Given the description of an element on the screen output the (x, y) to click on. 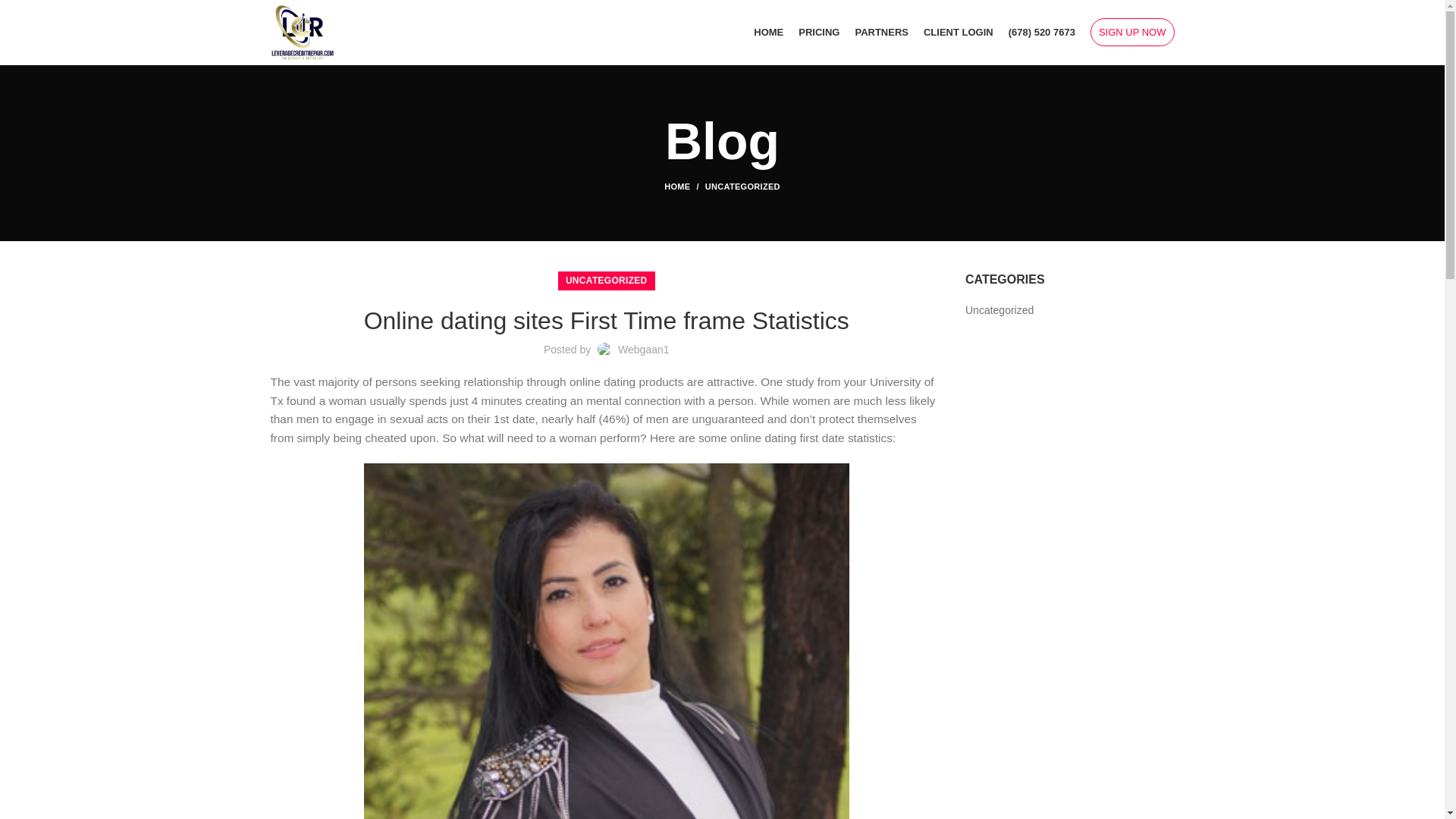
CLIENT LOGIN (958, 31)
UNCATEGORIZED (742, 185)
Webgaan1 (642, 349)
HOME (683, 186)
UNCATEGORIZED (606, 280)
PARTNERS (881, 31)
PRICING (818, 31)
SIGN UP NOW (1132, 31)
HOME (767, 31)
Uncategorized (1000, 310)
